Given the description of an element on the screen output the (x, y) to click on. 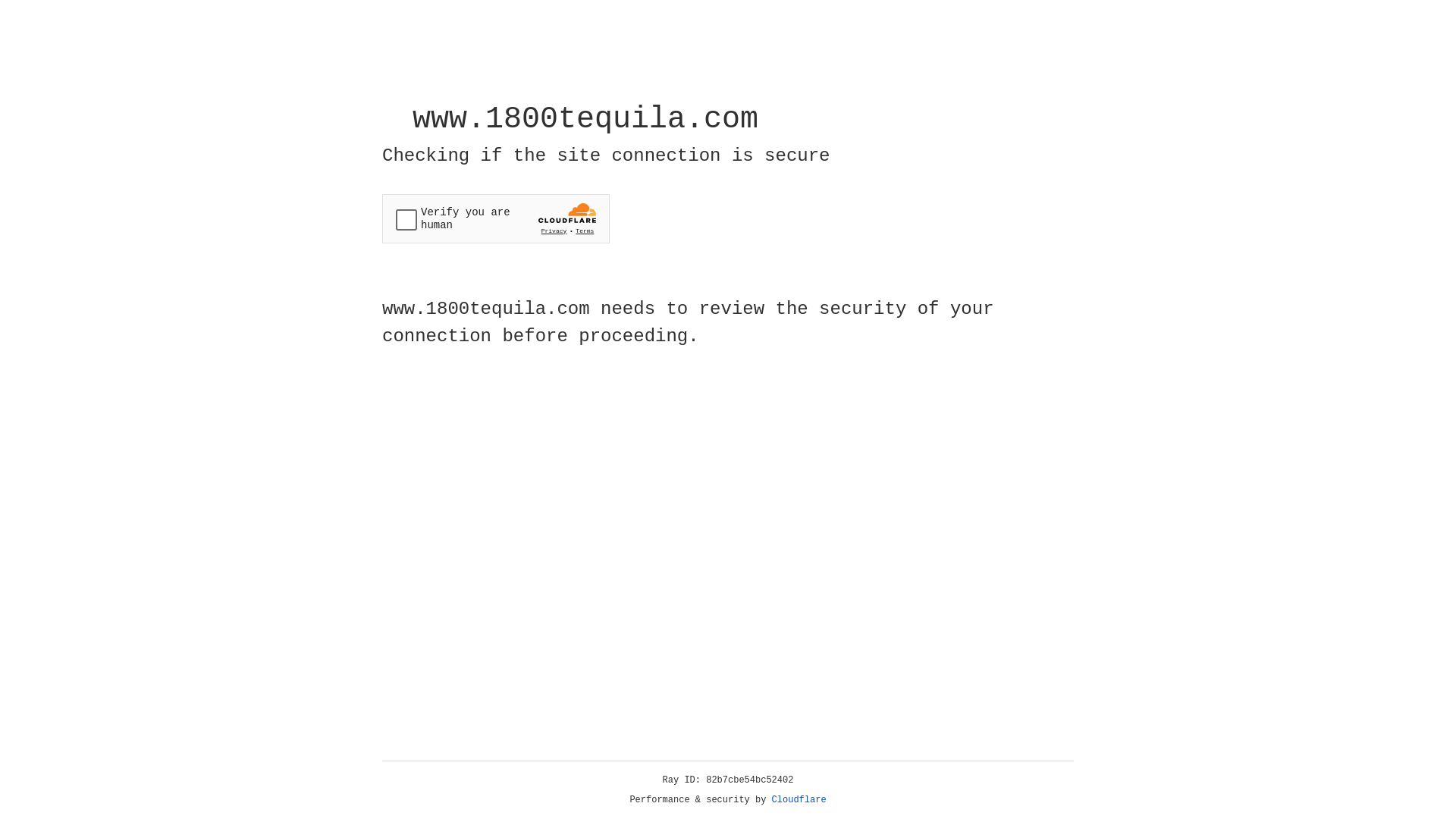
Cloudflare Element type: text (798, 799)
Widget containing a Cloudflare security challenge Element type: hover (495, 218)
